Given the description of an element on the screen output the (x, y) to click on. 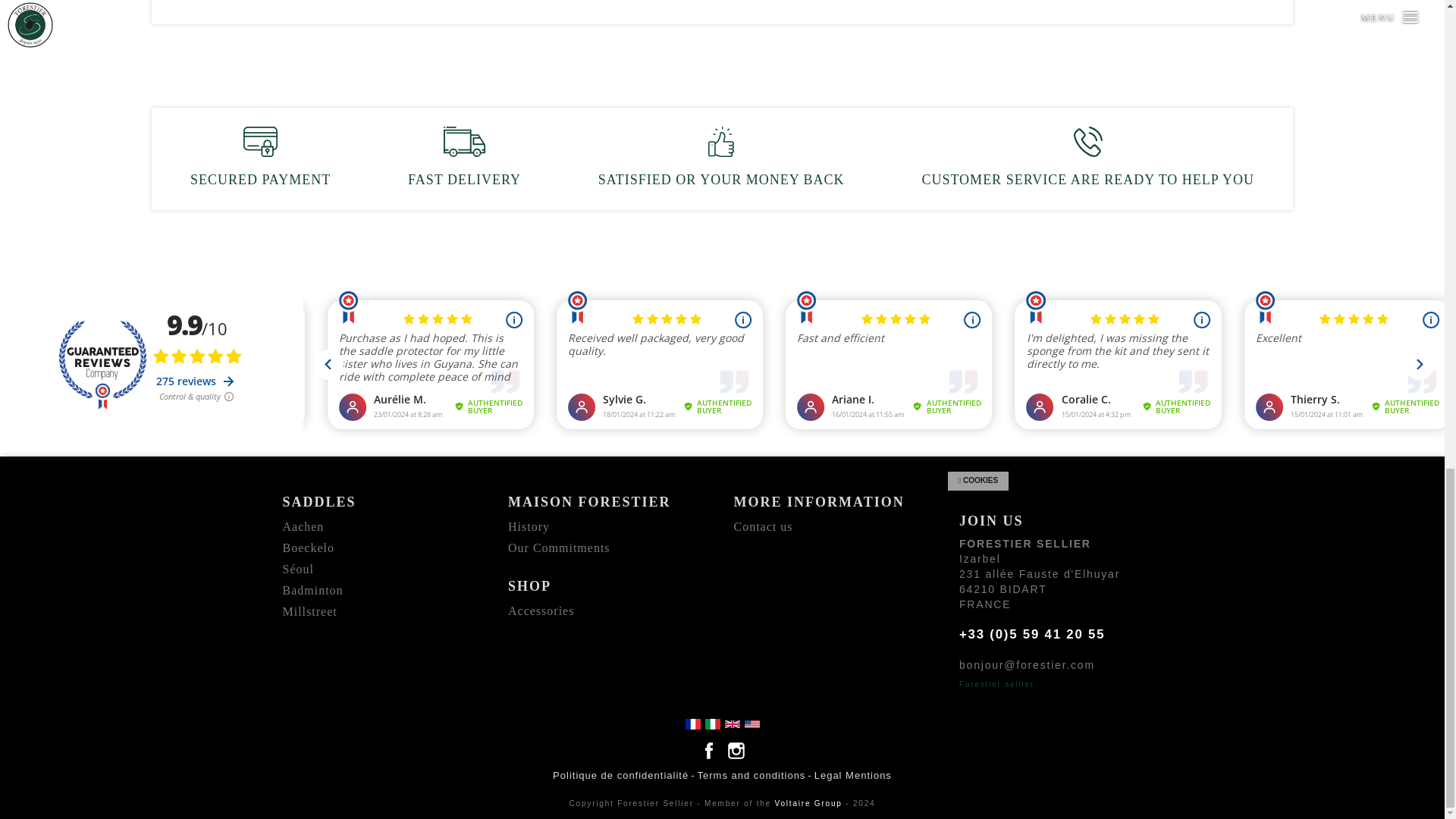
Aachen (302, 526)
France (691, 723)
United States (751, 723)
Italy (711, 723)
Boeckelo (307, 547)
United Kingdom (731, 723)
